Given the description of an element on the screen output the (x, y) to click on. 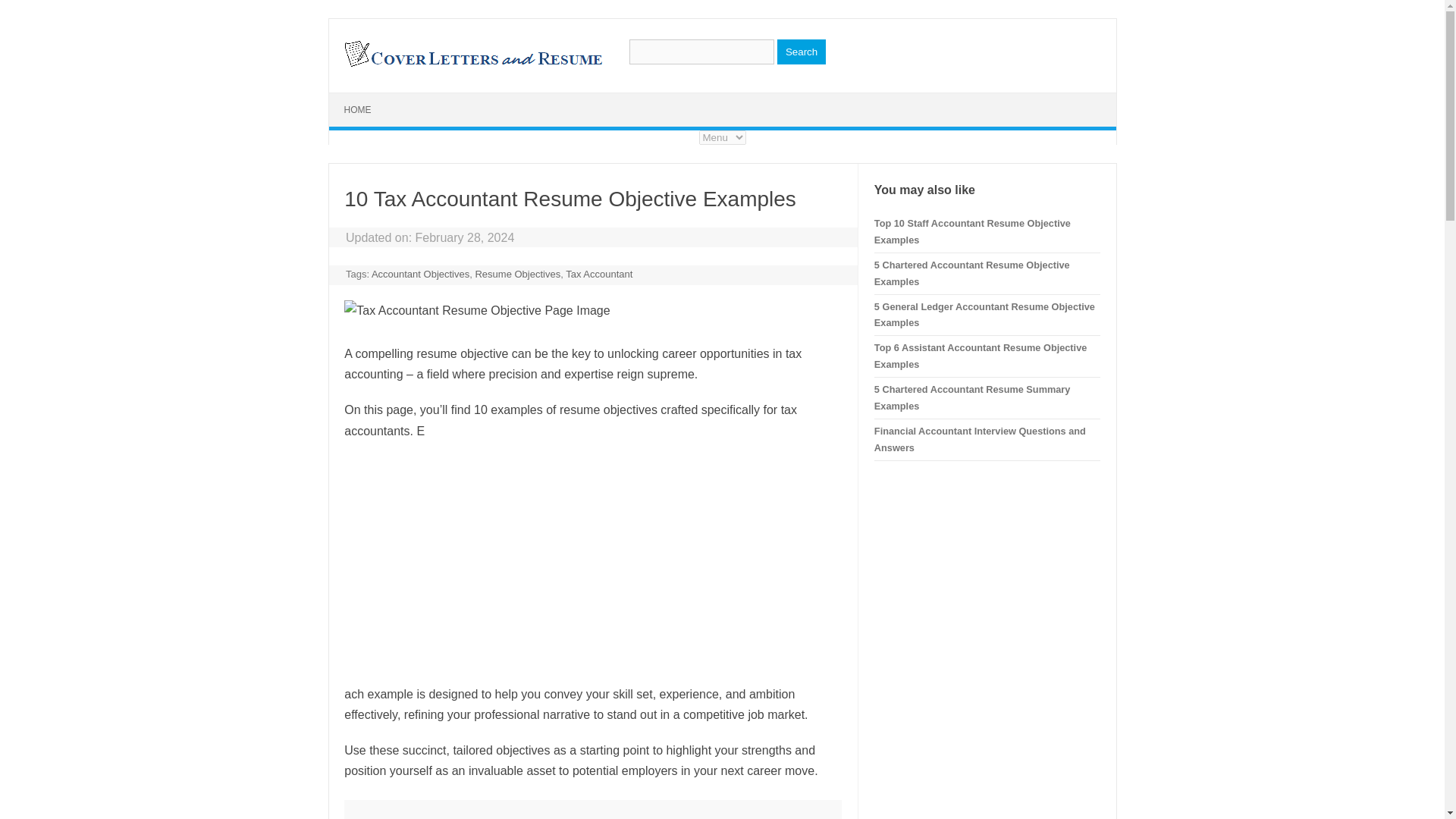
Cover Letters and Resume Samples (471, 65)
Search (801, 51)
Top 6 Assistant Accountant Resume Objective Examples (980, 356)
Accountant Objectives (419, 274)
5 Chartered Accountant Resume Objective Examples (972, 273)
Resume Objectives (517, 274)
Top 10 Staff Accountant Resume Objective Examples (972, 231)
Financial Accountant Interview Questions and Answers (980, 439)
5 Chartered Accountant Resume Summary Examples (972, 397)
HOME (358, 109)
5 General Ledger Accountant Resume Objective Examples (984, 314)
Tax Accountant (598, 274)
Search (801, 51)
